Given the description of an element on the screen output the (x, y) to click on. 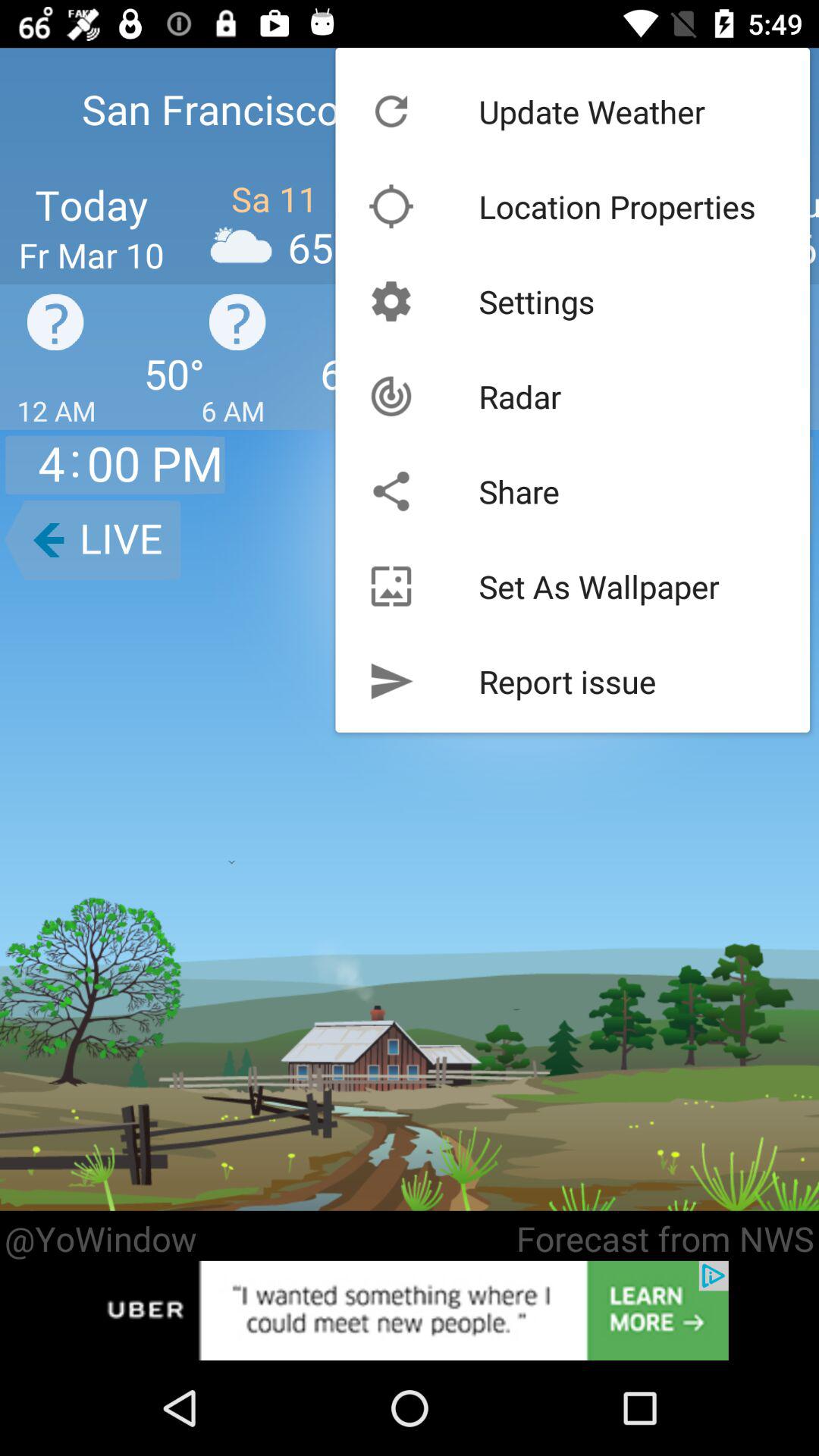
tap the icon above the radar item (536, 301)
